Given the description of an element on the screen output the (x, y) to click on. 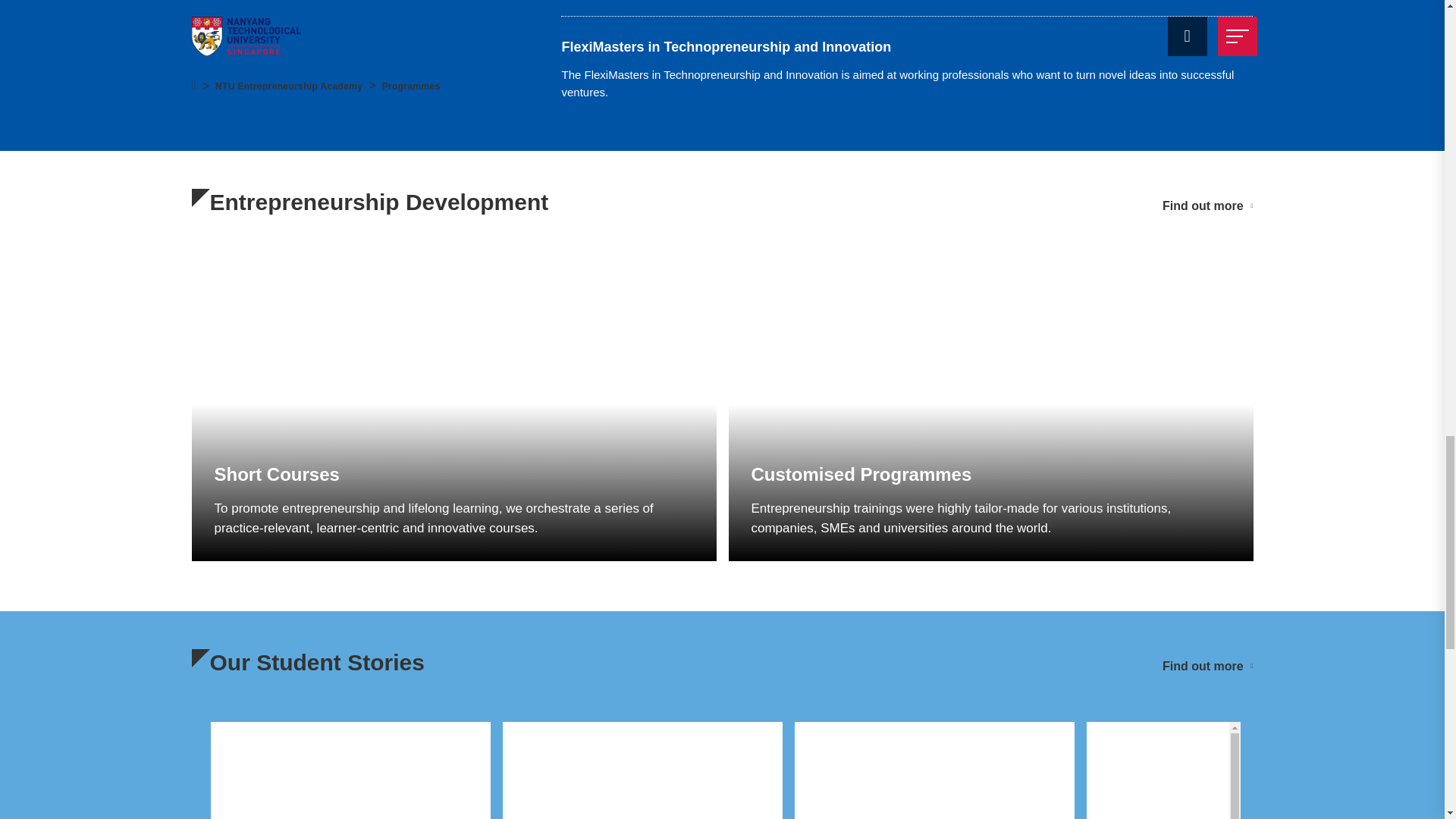
Grace Wiggins (641, 770)
Nicholas Teo (350, 770)
